Given the description of an element on the screen output the (x, y) to click on. 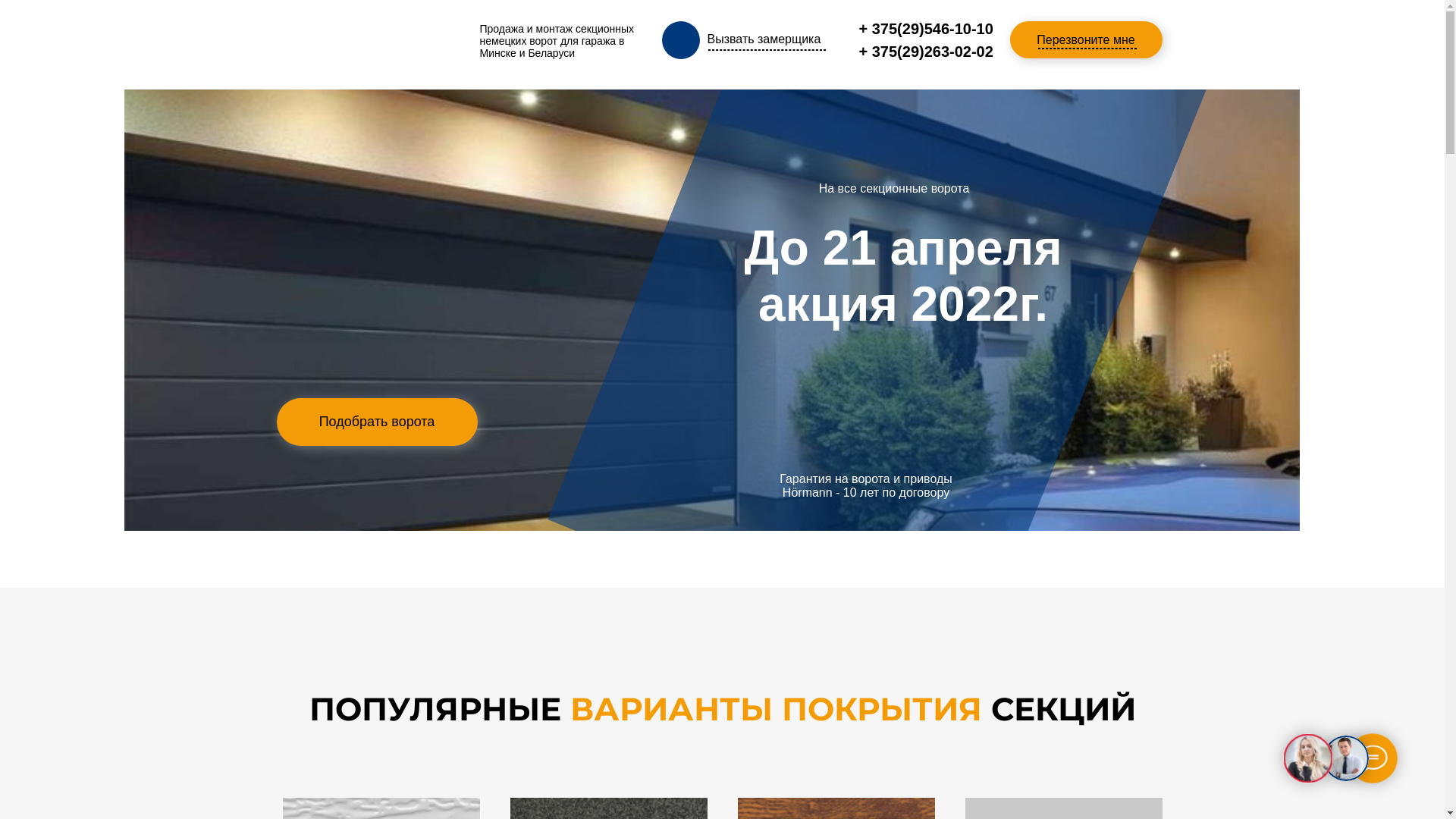
+ 375(29)546-10-10 Element type: text (925, 28)
+ 375(29)263-02-02 Element type: text (925, 51)
